Given the description of an element on the screen output the (x, y) to click on. 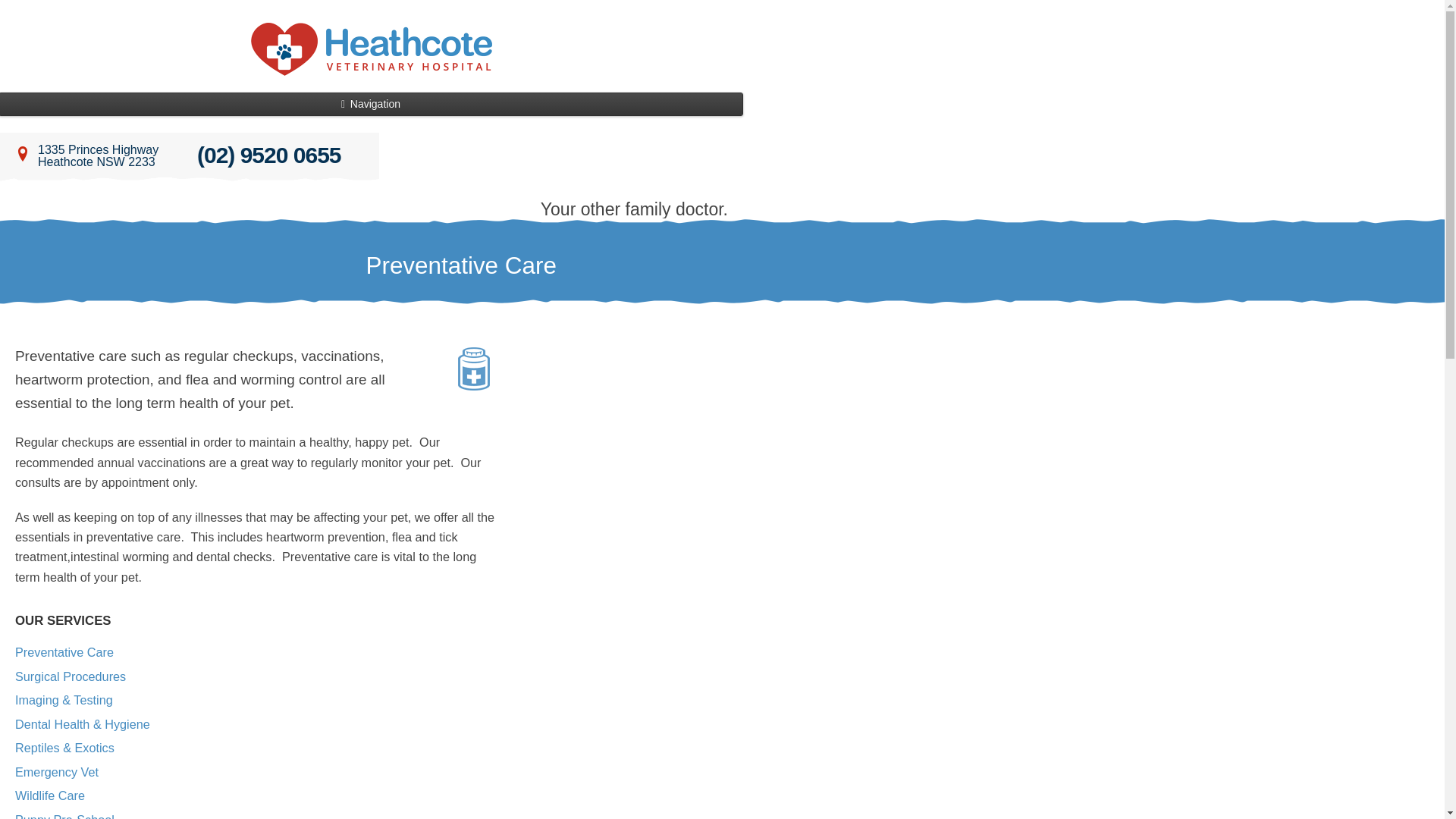
Dental Health & Hygiene Element type: text (82, 724)
Wildlife Care Element type: text (49, 795)
Preventative Care Element type: text (64, 651)
Reptiles & Exotics Element type: text (64, 747)
Your other family doctor. Element type: hover (371, 49)
Surgical Procedures Element type: text (70, 676)
Imaging & Testing Element type: text (63, 699)
Emergency Vet Element type: text (56, 771)
